Given the description of an element on the screen output the (x, y) to click on. 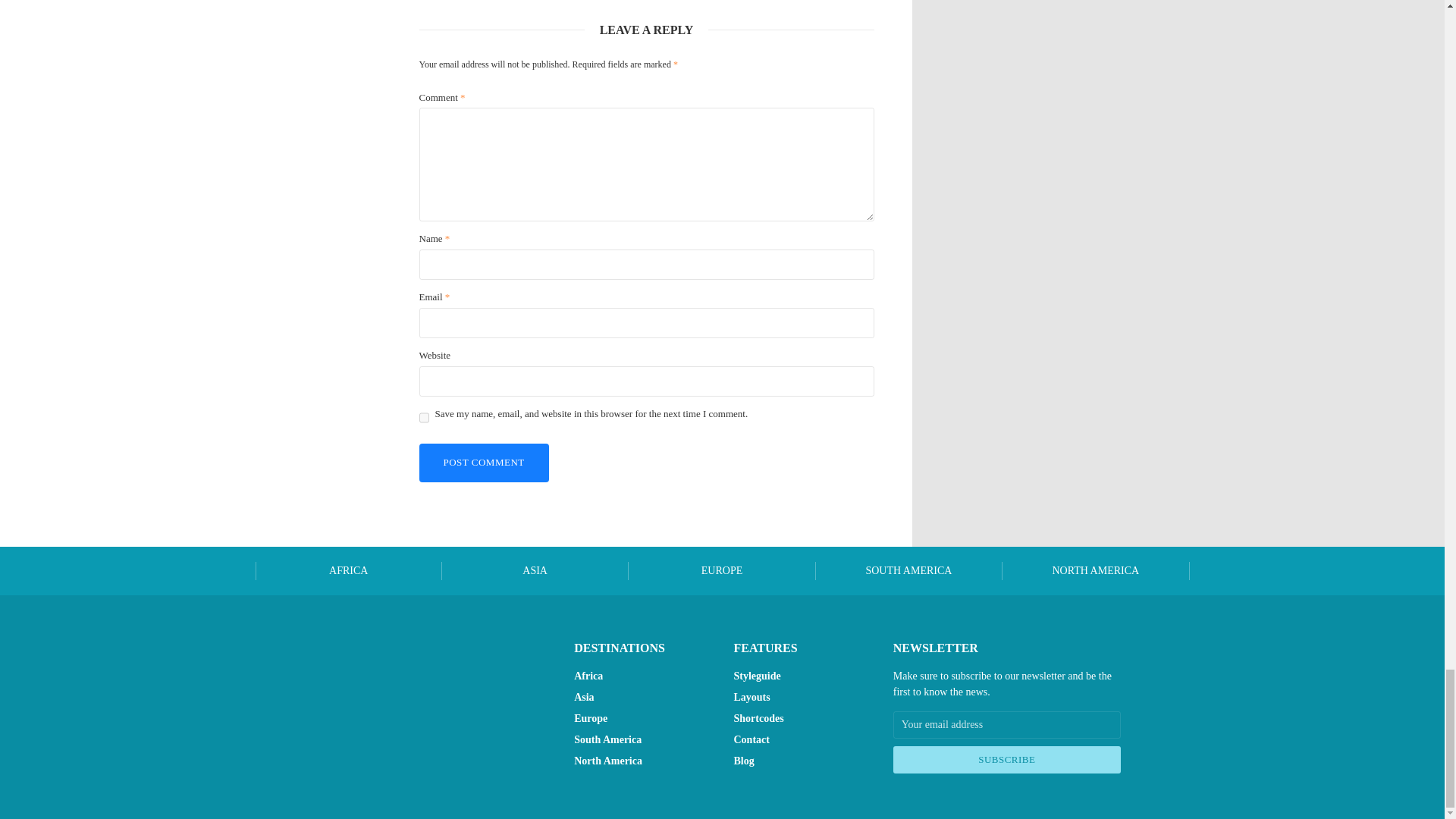
Post Comment (483, 462)
Subscribe (1007, 759)
Post Comment (483, 462)
